Given the description of an element on the screen output the (x, y) to click on. 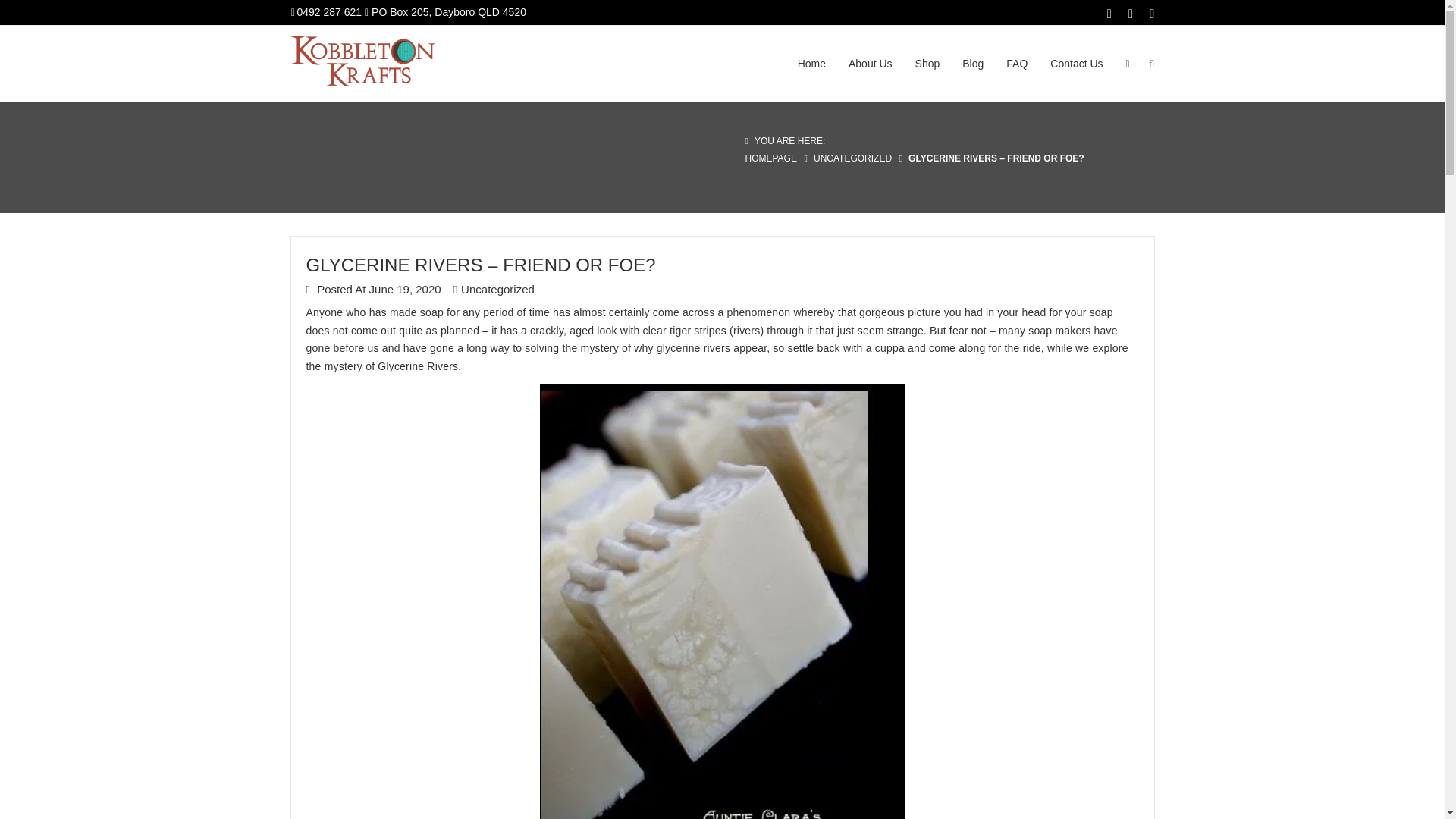
Homepage (770, 158)
HOMEPAGE (770, 158)
UNCATEGORIZED (852, 158)
Contact Us (1076, 62)
Uncategorized (497, 288)
Uncategorized (852, 158)
